Given the description of an element on the screen output the (x, y) to click on. 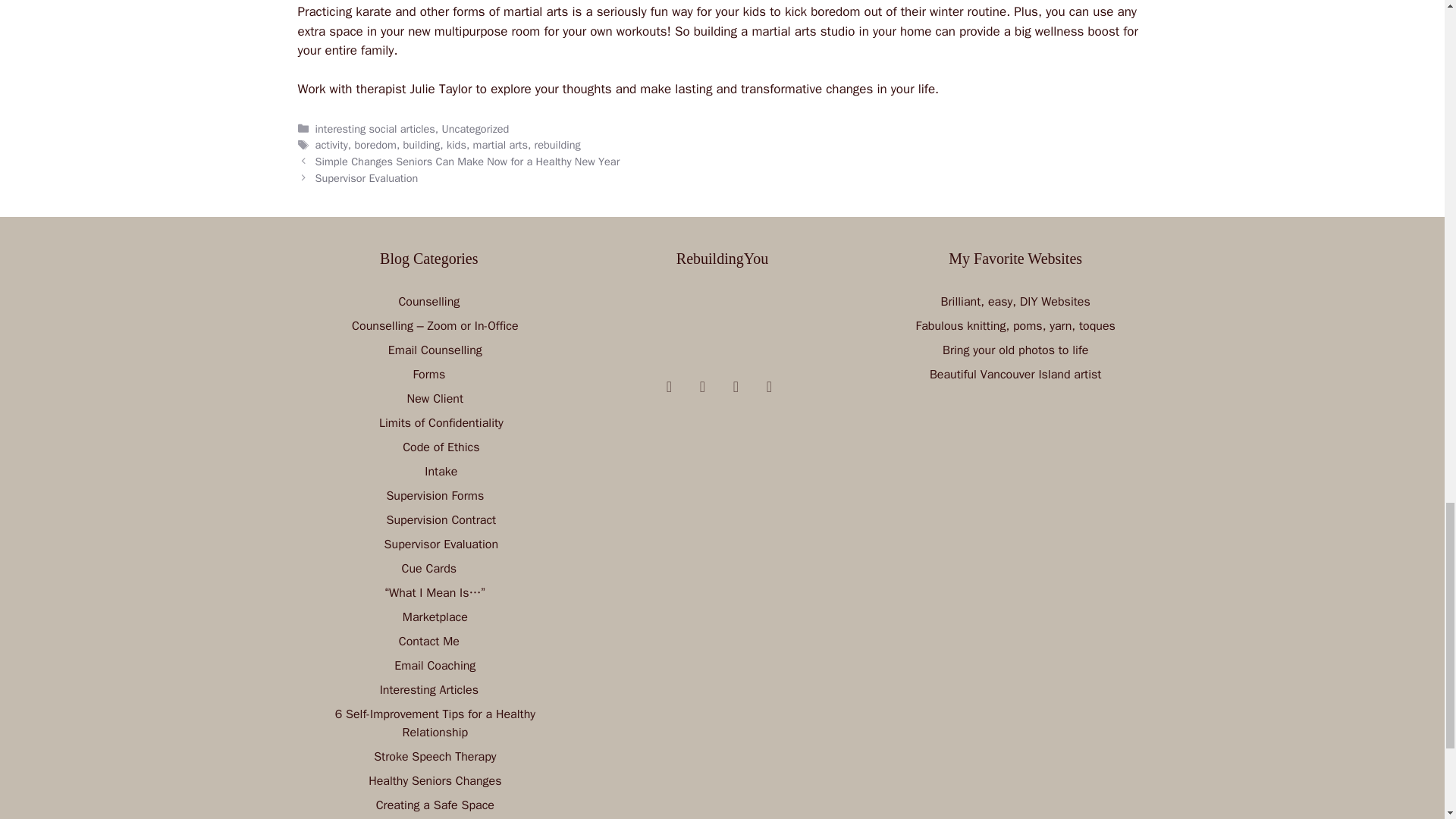
RSS (702, 386)
LinkedIn (768, 386)
Twitter (735, 386)
YouTube (668, 386)
